Given the description of an element on the screen output the (x, y) to click on. 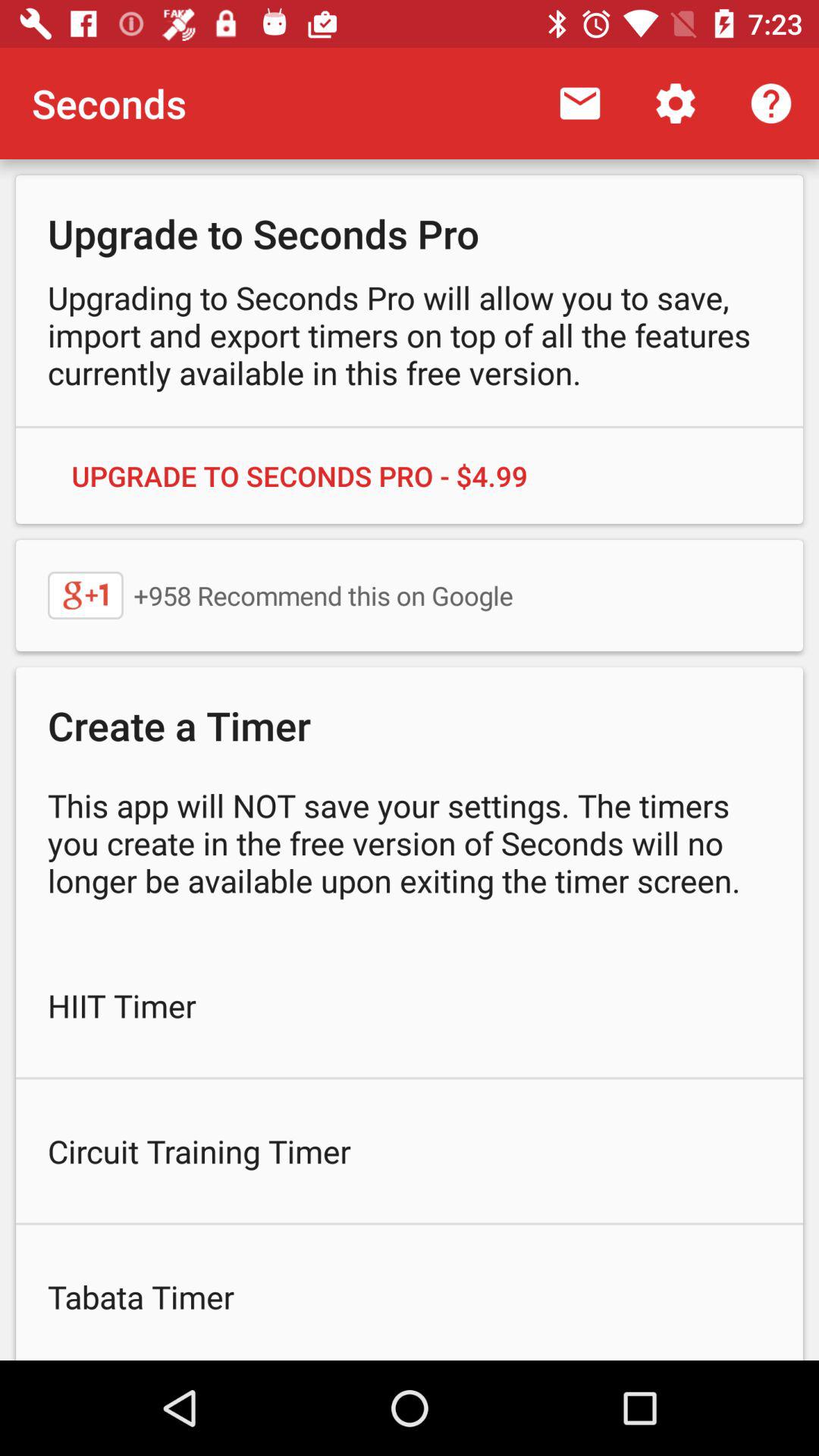
open the tabata timer item (409, 1292)
